Given the description of an element on the screen output the (x, y) to click on. 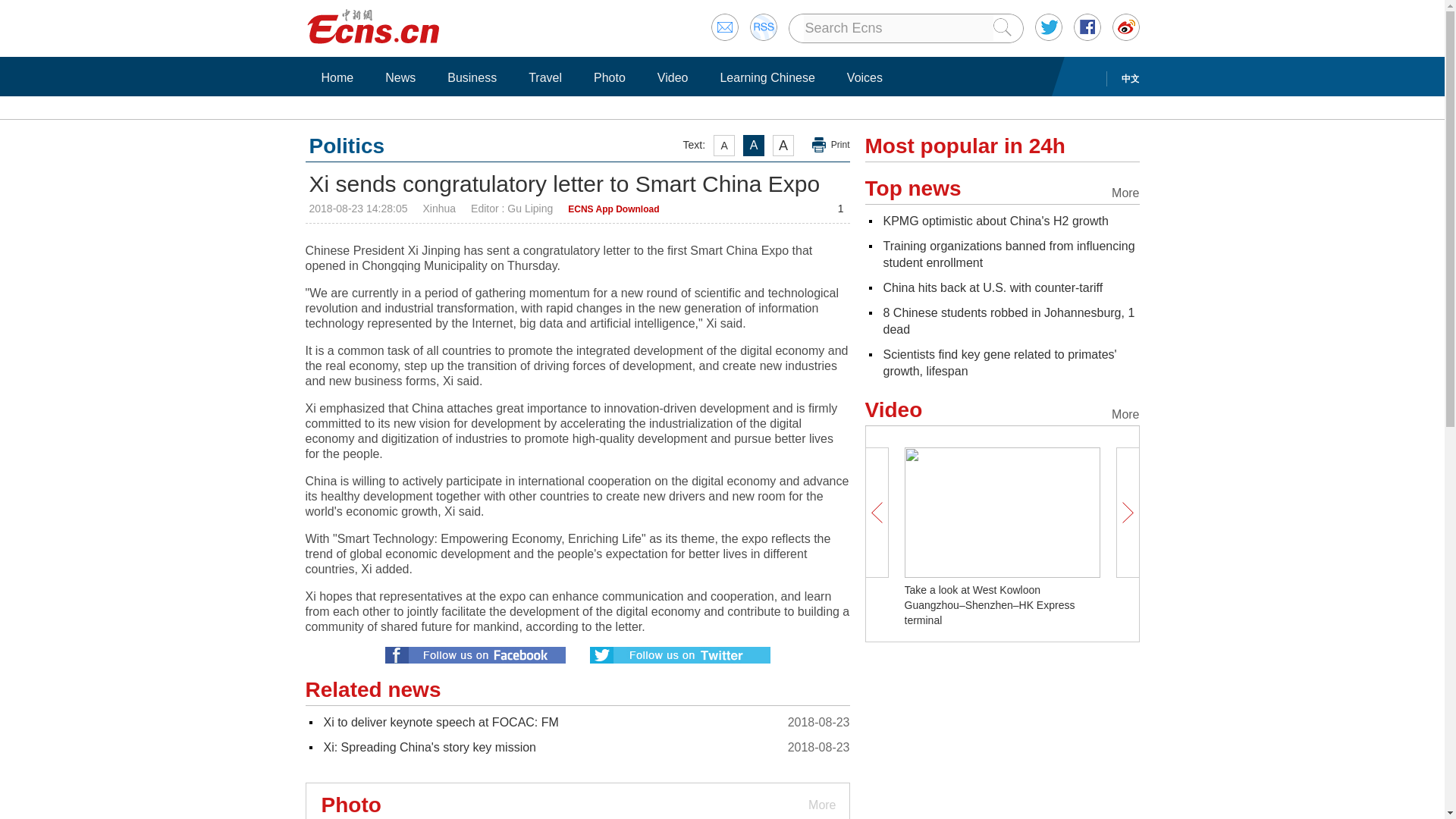
Video (673, 77)
Home (337, 77)
Travel (544, 77)
Business (472, 77)
Learning Chinese (766, 77)
ECNS App Download (613, 208)
Search Ecns (897, 27)
Voices (864, 77)
News (400, 77)
Print (831, 144)
